Given the description of an element on the screen output the (x, y) to click on. 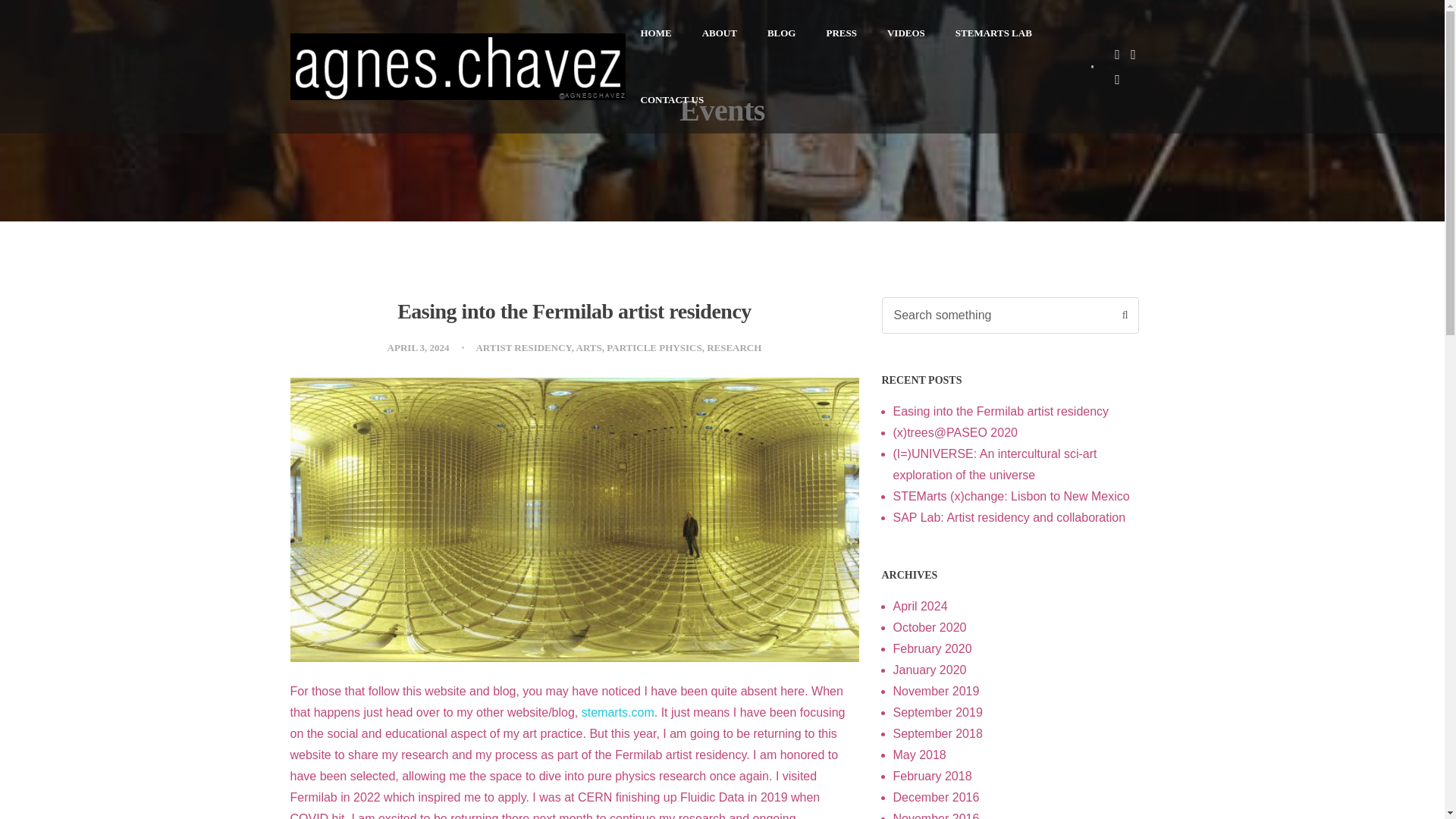
VIDEOS (906, 33)
RESEARCH (733, 347)
PRESS (840, 33)
About (719, 33)
April 2024 (920, 605)
Contact Us (671, 99)
CONTACT US (671, 99)
ABOUT (719, 33)
SAP Lab: Artist residency and collaboration (1009, 517)
ARTS (589, 347)
stemarts.com (616, 712)
PARTICLE PHYSICS (654, 347)
STEMARTS LAB (993, 33)
STEMarts Lab (993, 33)
Easing into the Fermilab artist residency (574, 310)
